Given the description of an element on the screen output the (x, y) to click on. 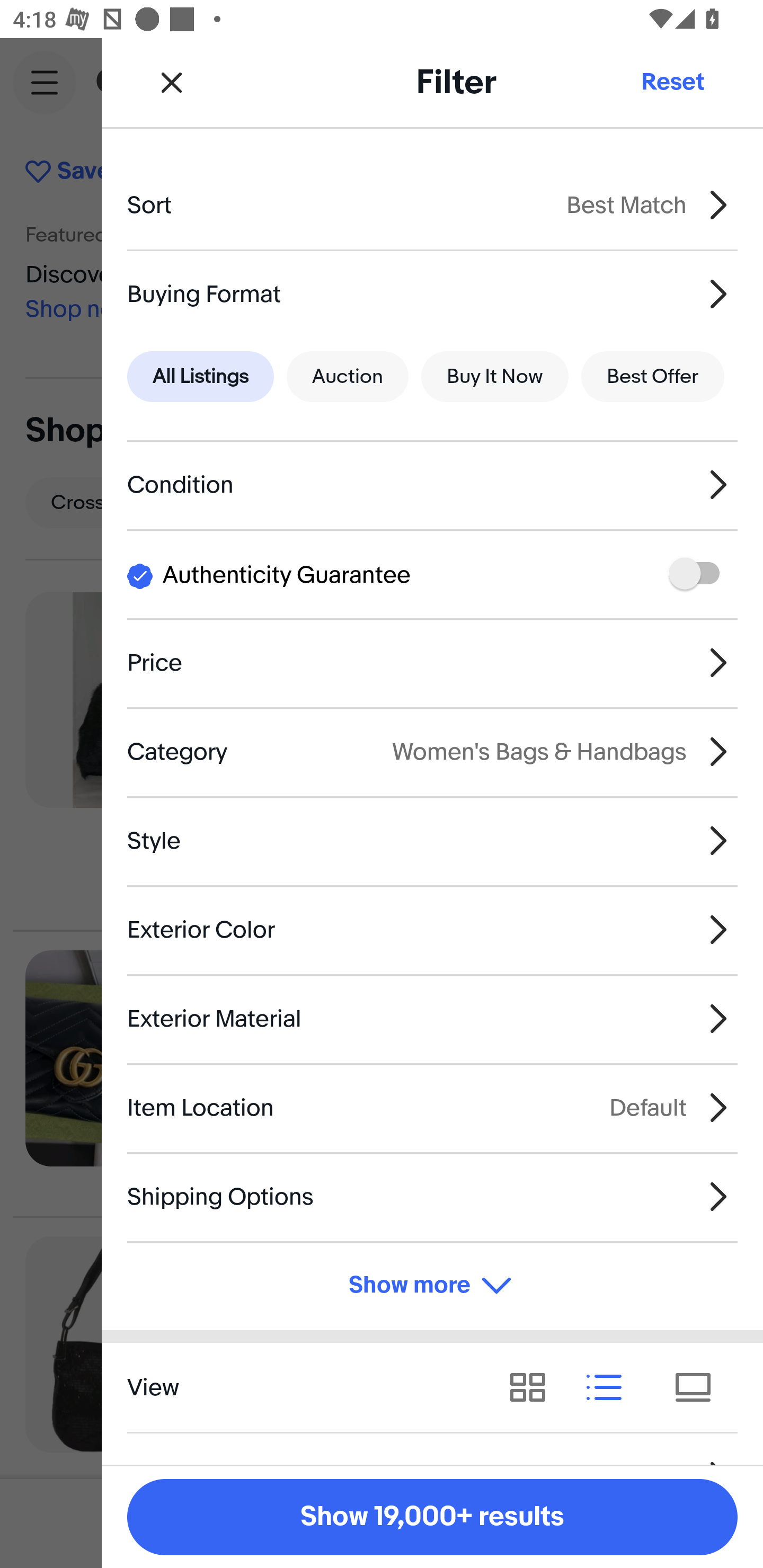
Close Filter (171, 81)
Reset (672, 81)
Buying Format (432, 293)
All Listings (200, 376)
Auction (347, 376)
Buy It Now (494, 376)
Best Offer (652, 376)
Tote Tote, Style (709, 502)
I  Authenticity Guarantee (432, 573)
Price (432, 662)
Category Women's Bags & Handbags (432, 751)
Style (432, 840)
Exterior Color (432, 929)
Exterior Material (432, 1018)
Item Location Default (432, 1107)
Shipping Options (432, 1196)
Show more (432, 1285)
View results as grid (533, 1386)
View results as list (610, 1386)
View results as tiles (699, 1386)
Show 19,000+ results (432, 1516)
